Given the description of an element on the screen output the (x, y) to click on. 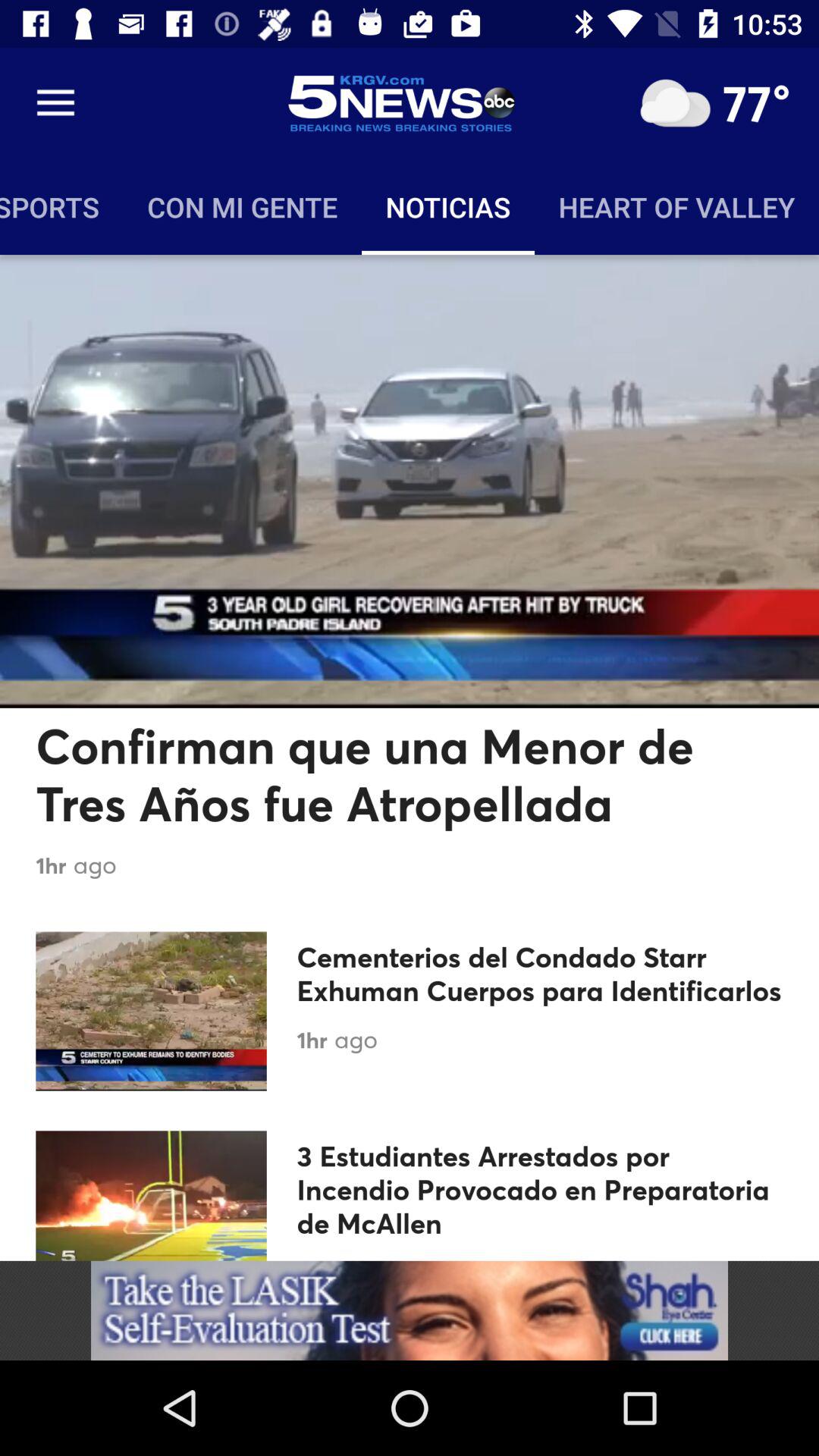
click for weather (674, 103)
